Given the description of an element on the screen output the (x, y) to click on. 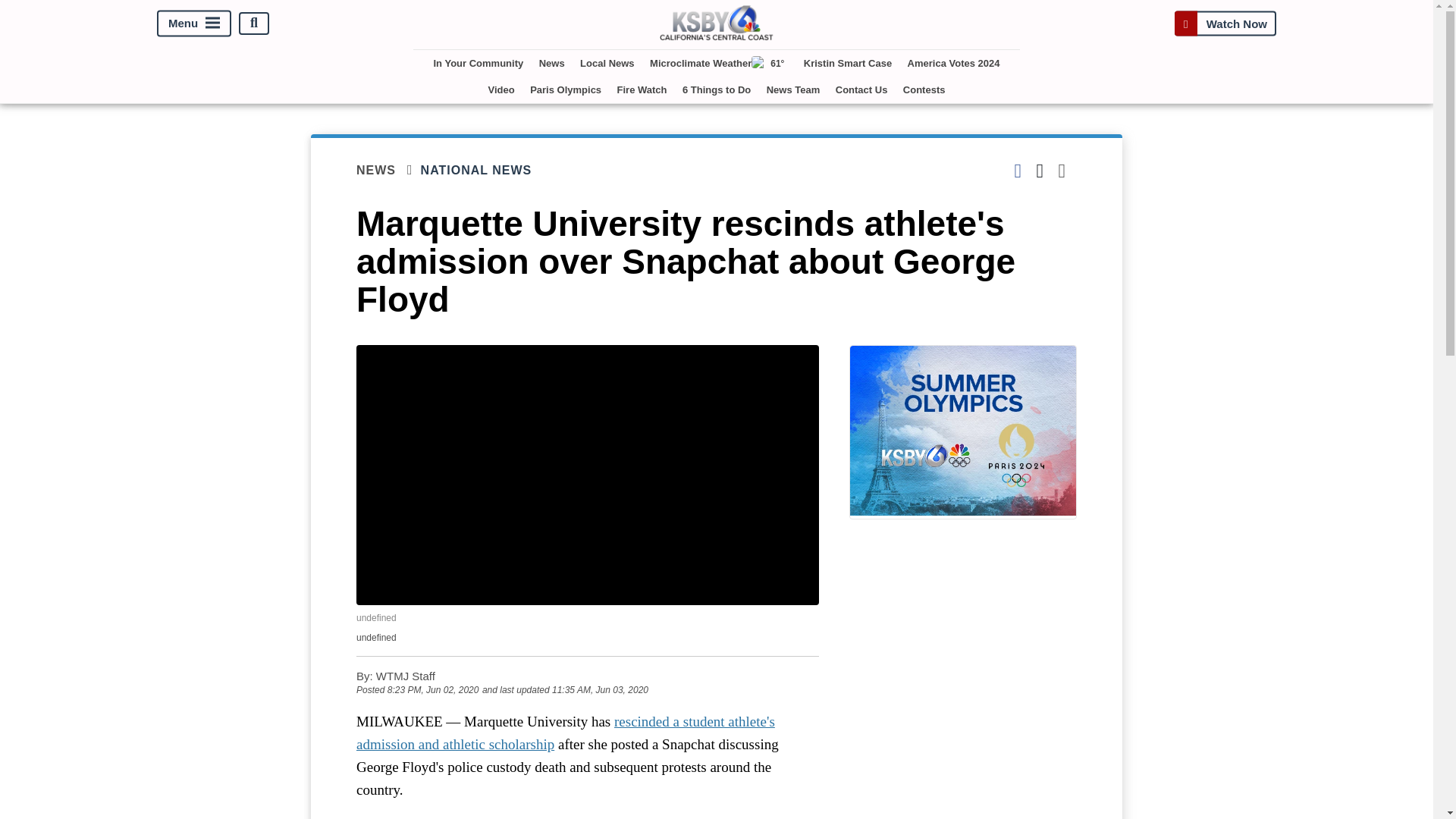
Watch Now (1224, 22)
Menu (194, 22)
